Given the description of an element on the screen output the (x, y) to click on. 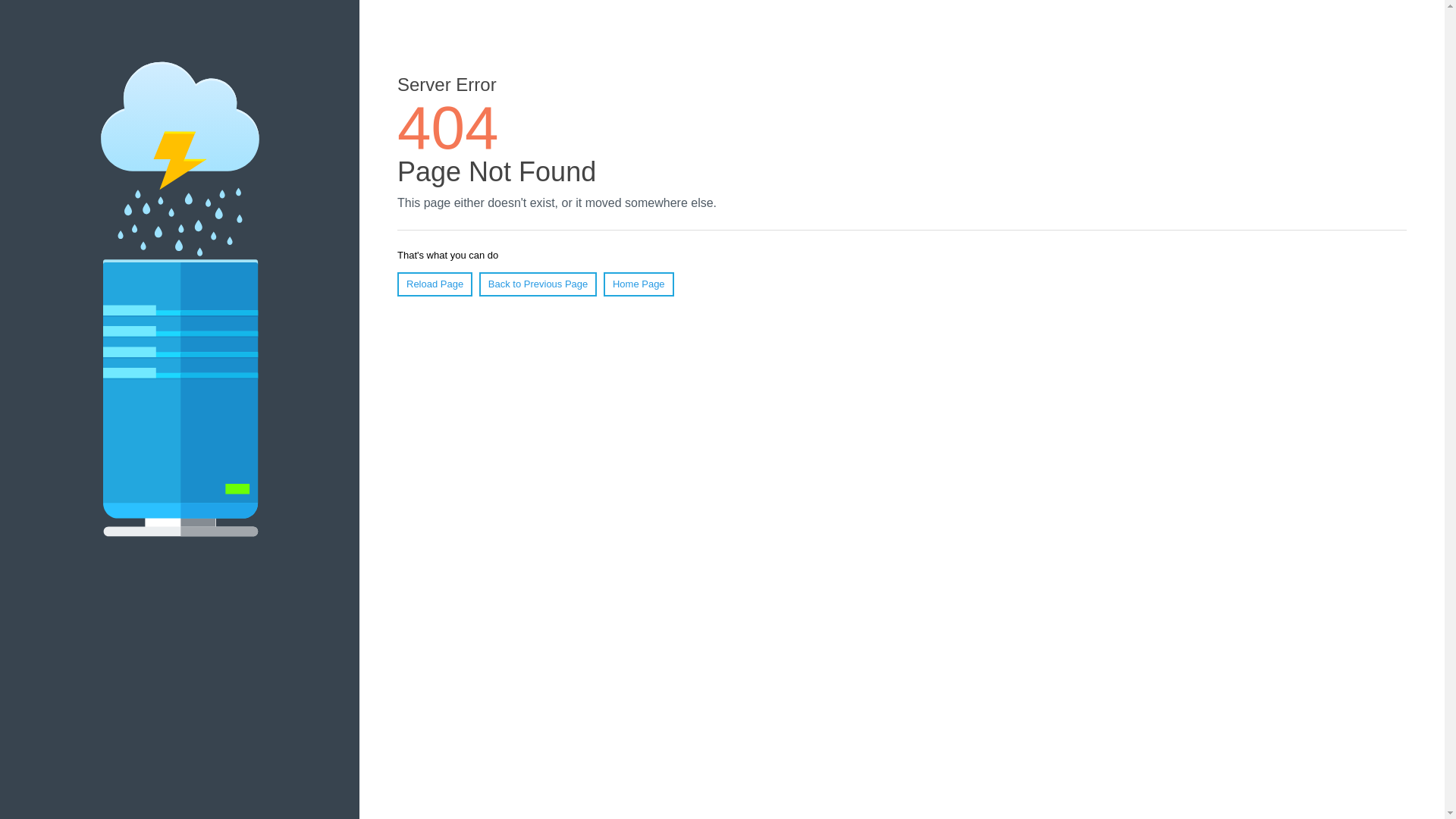
Reload Page Element type: text (434, 284)
Back to Previous Page Element type: text (538, 284)
Home Page Element type: text (638, 284)
